Given the description of an element on the screen output the (x, y) to click on. 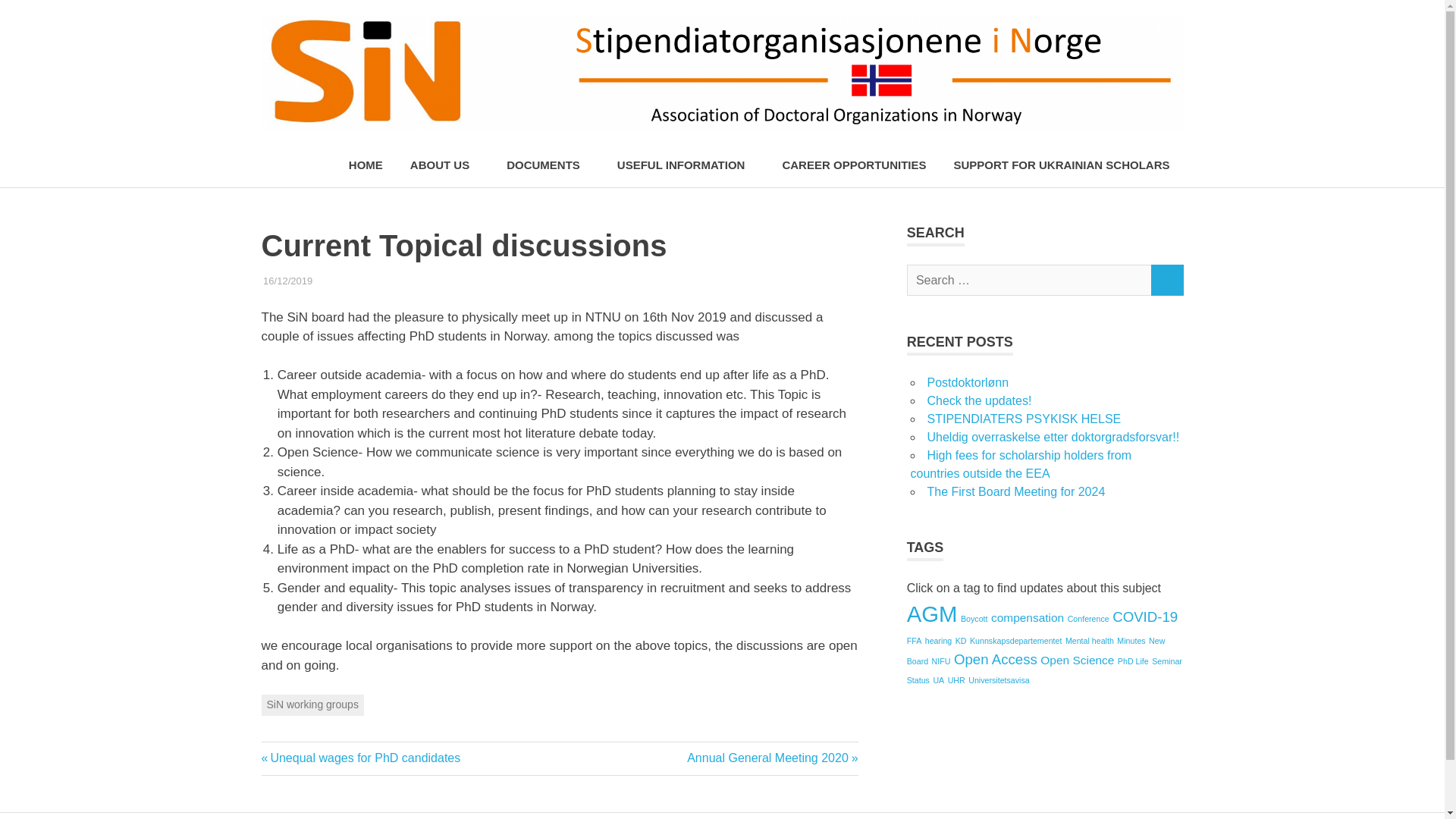
View all posts by 185215914561974 (353, 280)
HOME (365, 165)
NEWS (421, 280)
185215914561974 (353, 280)
SIN (450, 280)
CAREER OPPORTUNITIES (853, 165)
USEFUL INFORMATION (686, 165)
DOCUMENTS (548, 165)
SUPPORT FOR UKRAINIAN SCHOLARS (1060, 165)
Search for: (1029, 279)
